Given the description of an element on the screen output the (x, y) to click on. 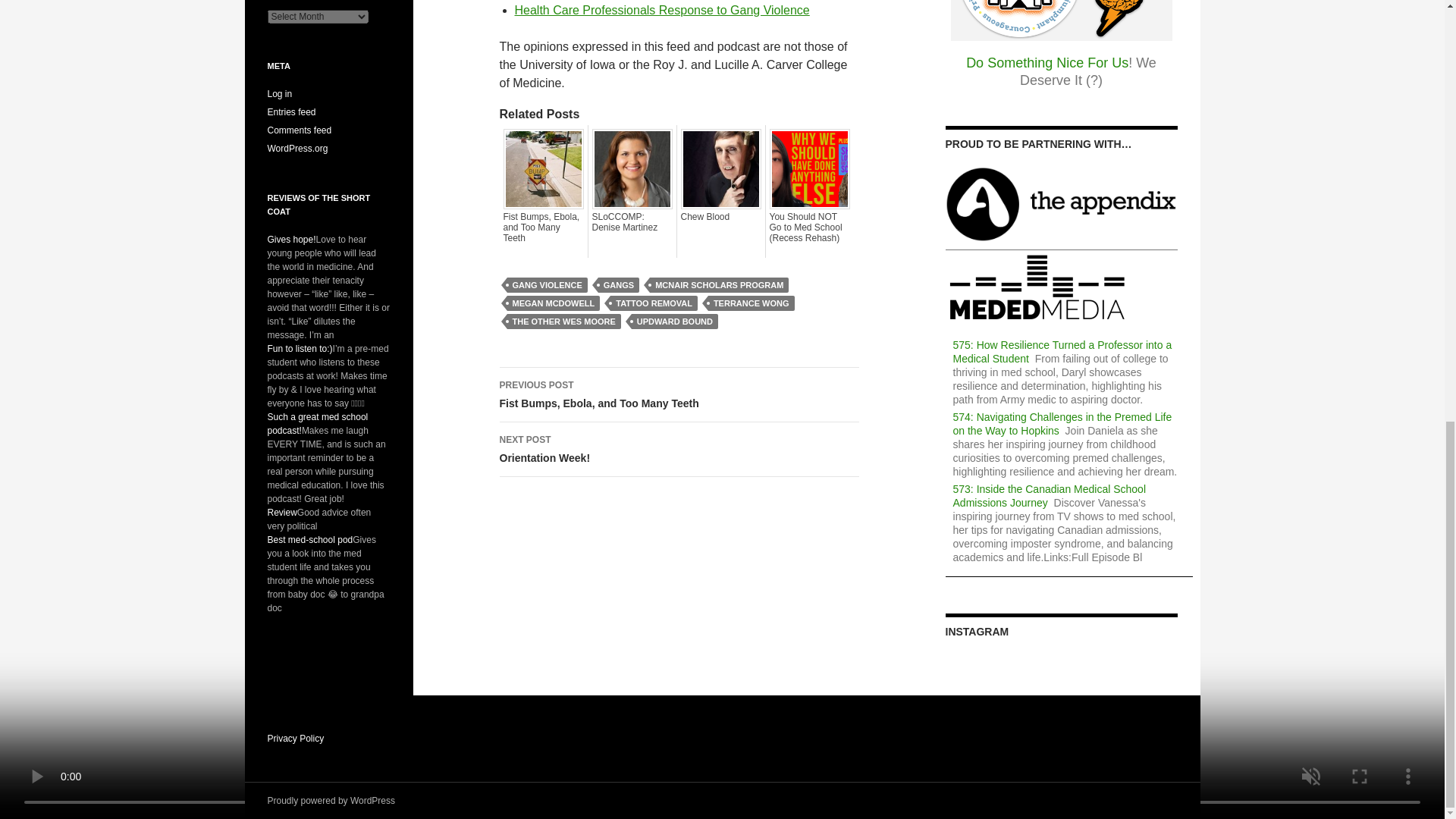
MCNAIR SCHOLARS PROGRAM (719, 284)
GANG VIOLENCE (546, 284)
GANGS (618, 284)
SLoCCOMP: Denise Martinez (631, 221)
573: Inside the Canadian Medical School Admissions Journey (1050, 495)
Health Care Professionals Response to Gang Violence (661, 10)
Fist Bumps, Ebola, and Too Many Teeth (543, 227)
MEGAN MCDOWELL (552, 303)
Chew Blood (721, 216)
